Given the description of an element on the screen output the (x, y) to click on. 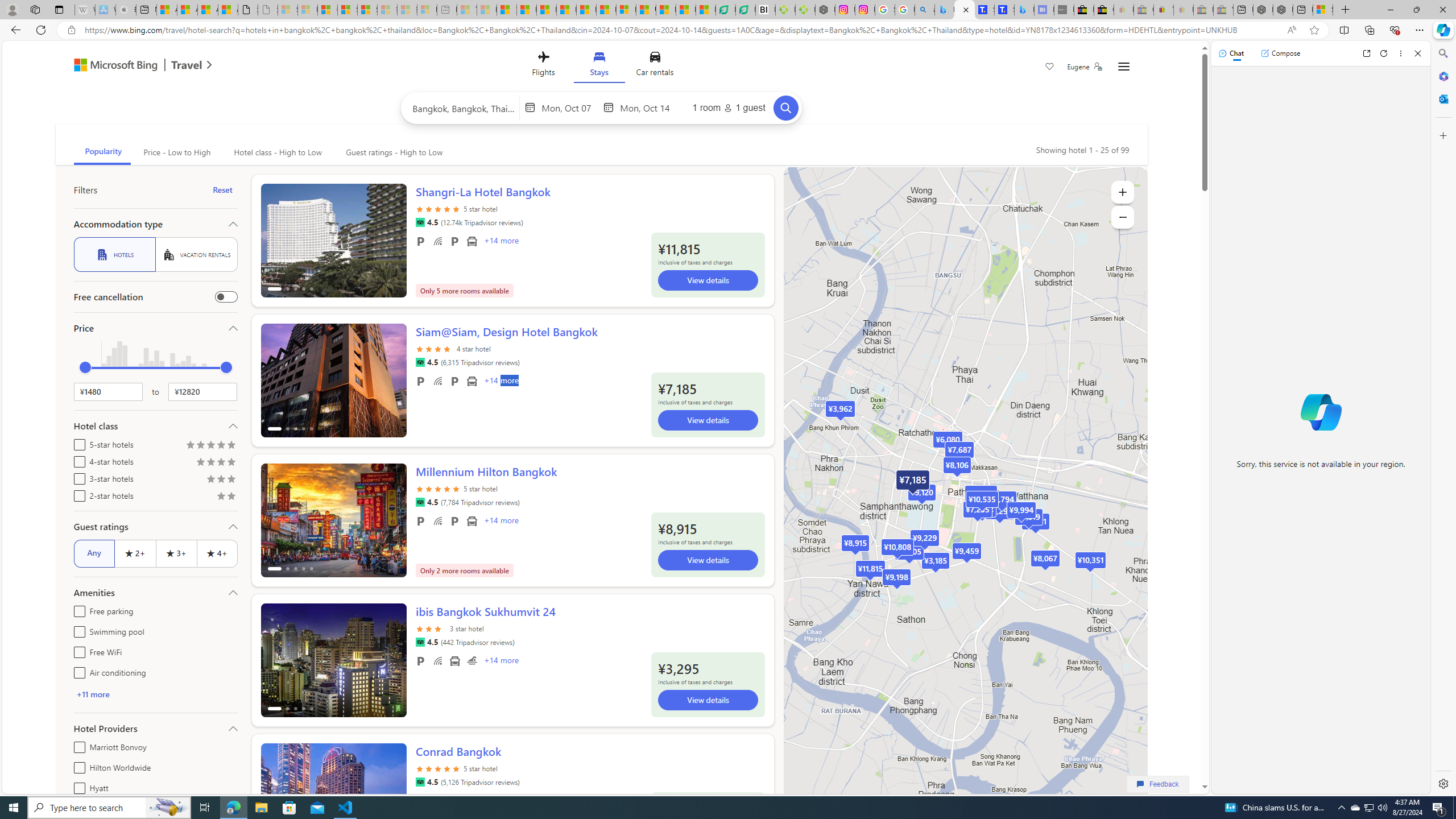
Rating (231, 496)
Microsoft Bing Travel - Stays in Bangkok, Bangkok, Thailand (964, 9)
Class: trvl-hub-header (601, 65)
Guest ratings - High to Low (392, 152)
Microsoft Bing (110, 65)
Microsoft Services Agreement - Sleeping (306, 9)
Microsoft Bing Travel - Flights from Hong Kong to Bangkok (944, 9)
Yard, Garden & Outdoor Living - Sleeping (1222, 9)
